Given the description of an element on the screen output the (x, y) to click on. 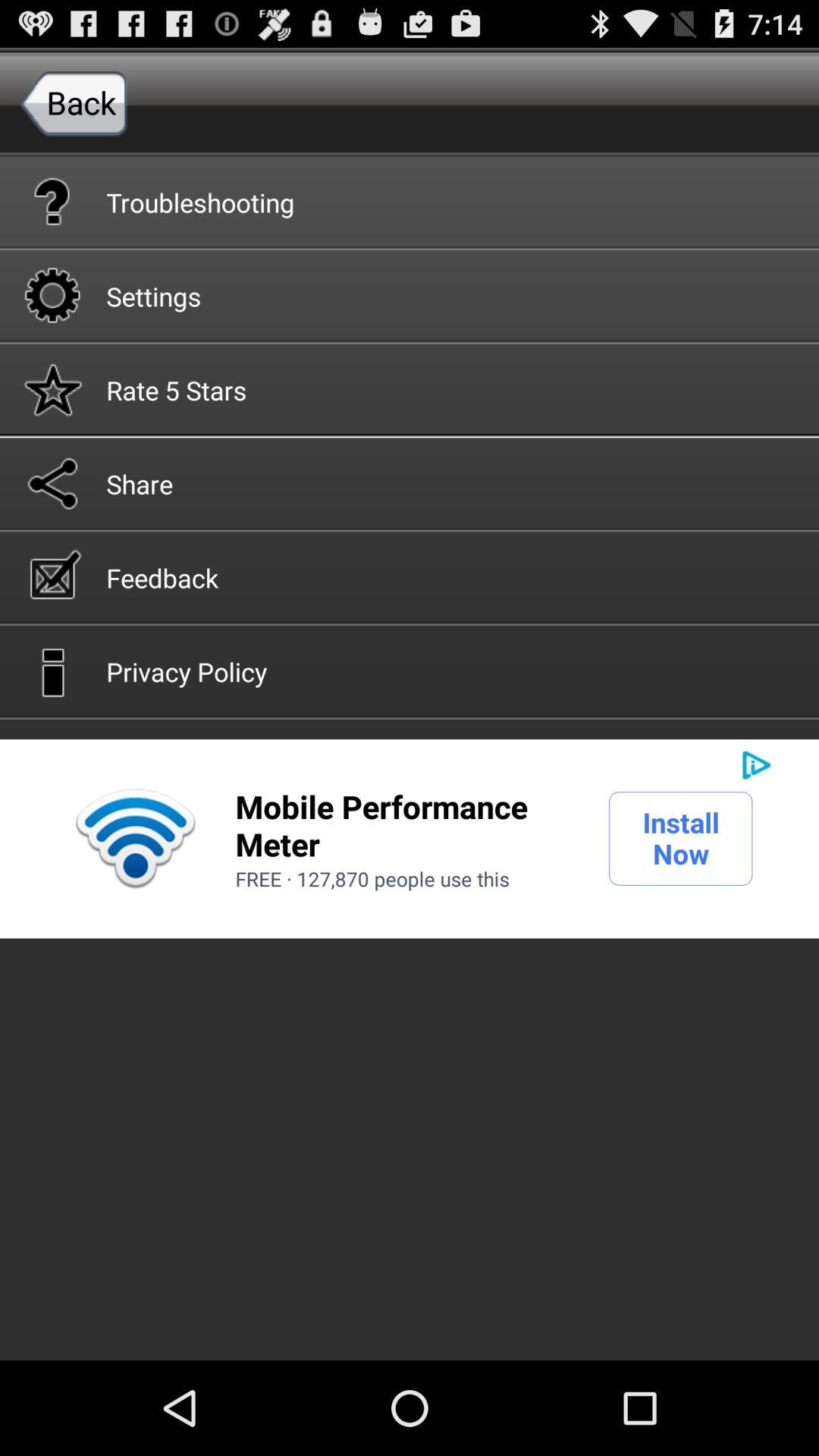
launch the button at the top left corner (73, 102)
